Given the description of an element on the screen output the (x, y) to click on. 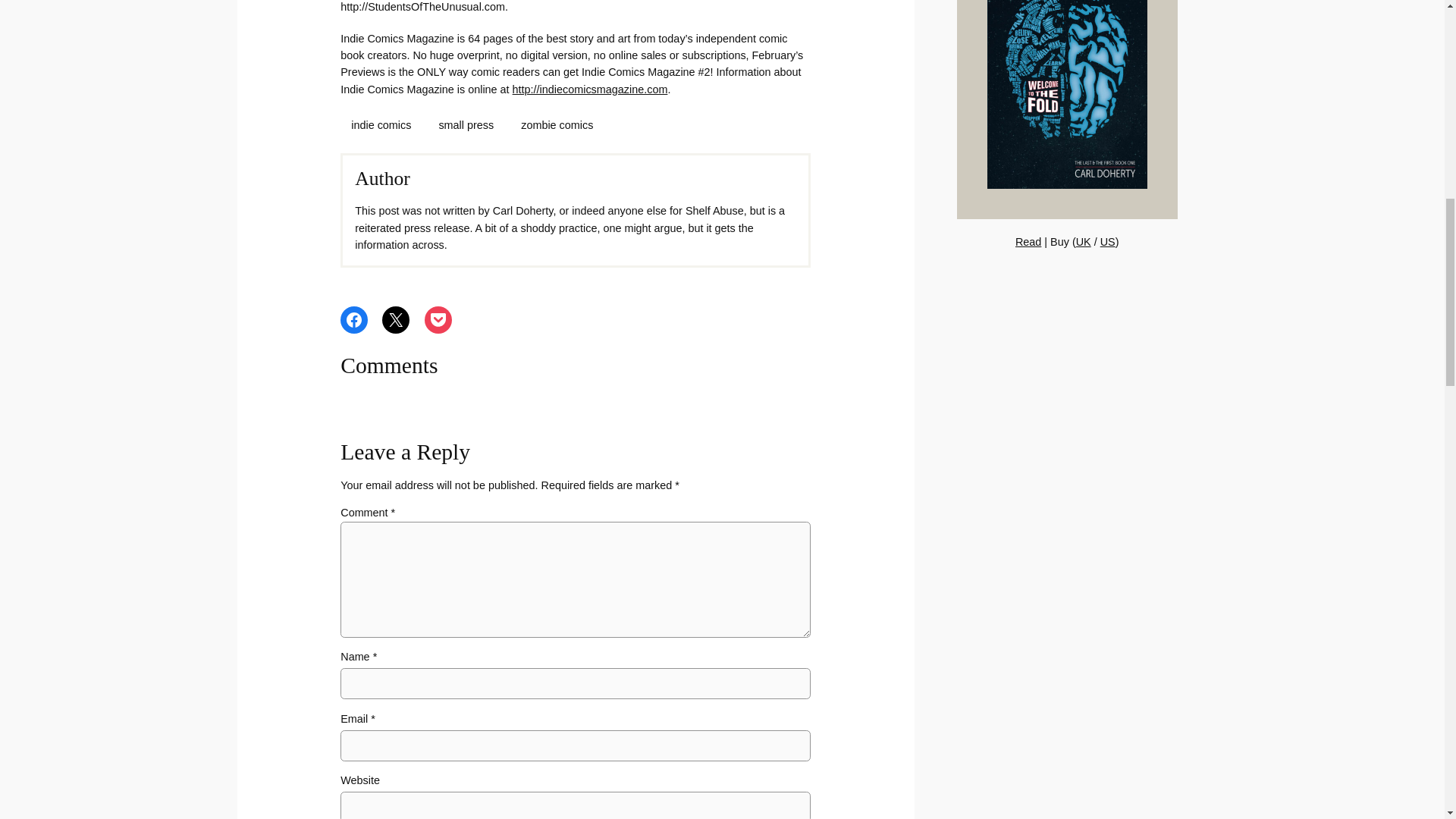
zombie comics (557, 125)
small press (465, 125)
Share on Facebook (354, 319)
Share on Pocket (438, 319)
indie comics (381, 125)
Share on X (395, 319)
